Given the description of an element on the screen output the (x, y) to click on. 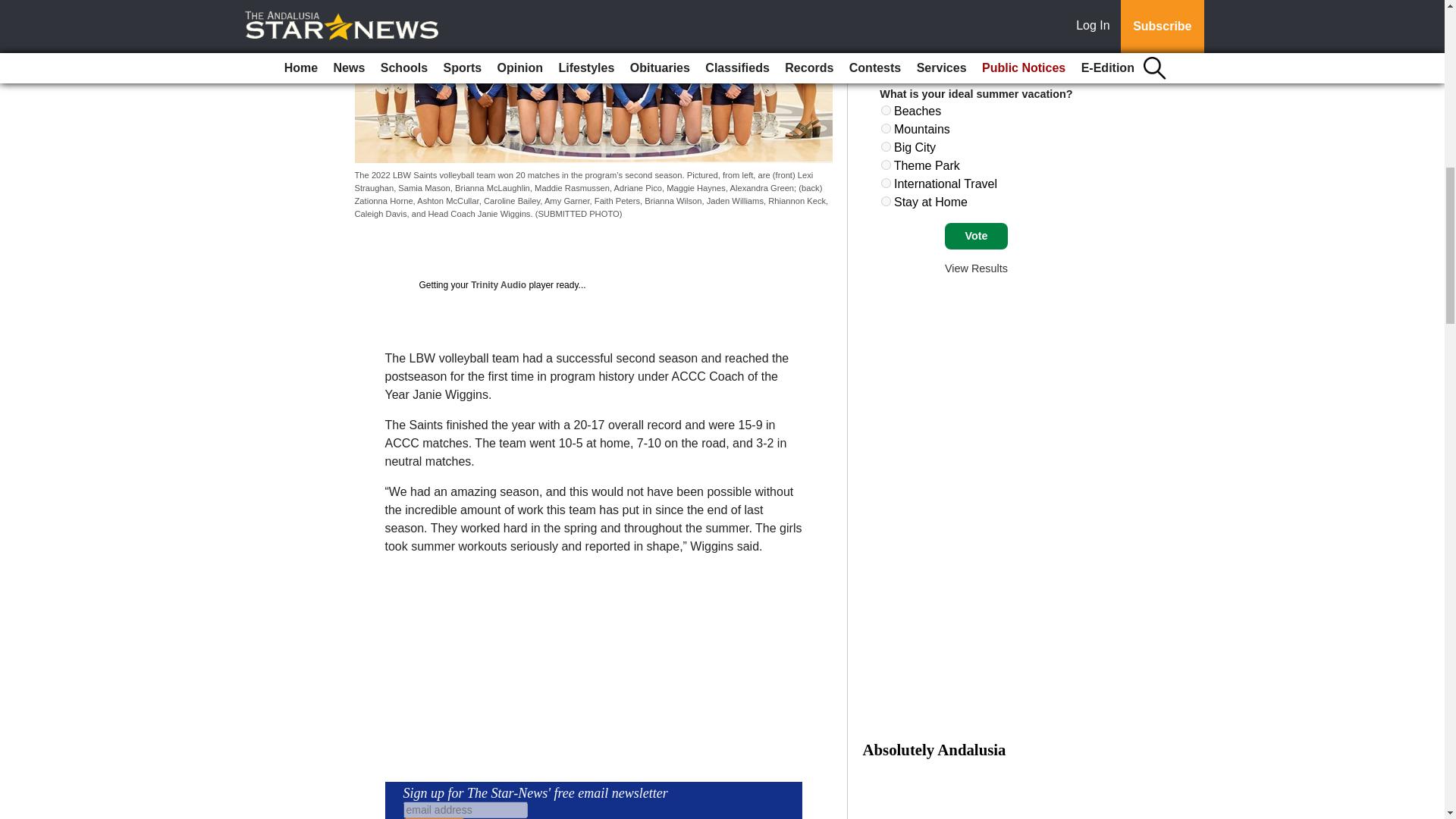
View Results (975, 268)
749 (885, 201)
747 (885, 164)
748 (885, 183)
Subscribe (434, 818)
   Vote    (975, 236)
Trinity Audio (497, 285)
745 (885, 128)
View Results Of This Poll (975, 268)
Subscribe (434, 818)
746 (885, 146)
744 (885, 110)
